Given the description of an element on the screen output the (x, y) to click on. 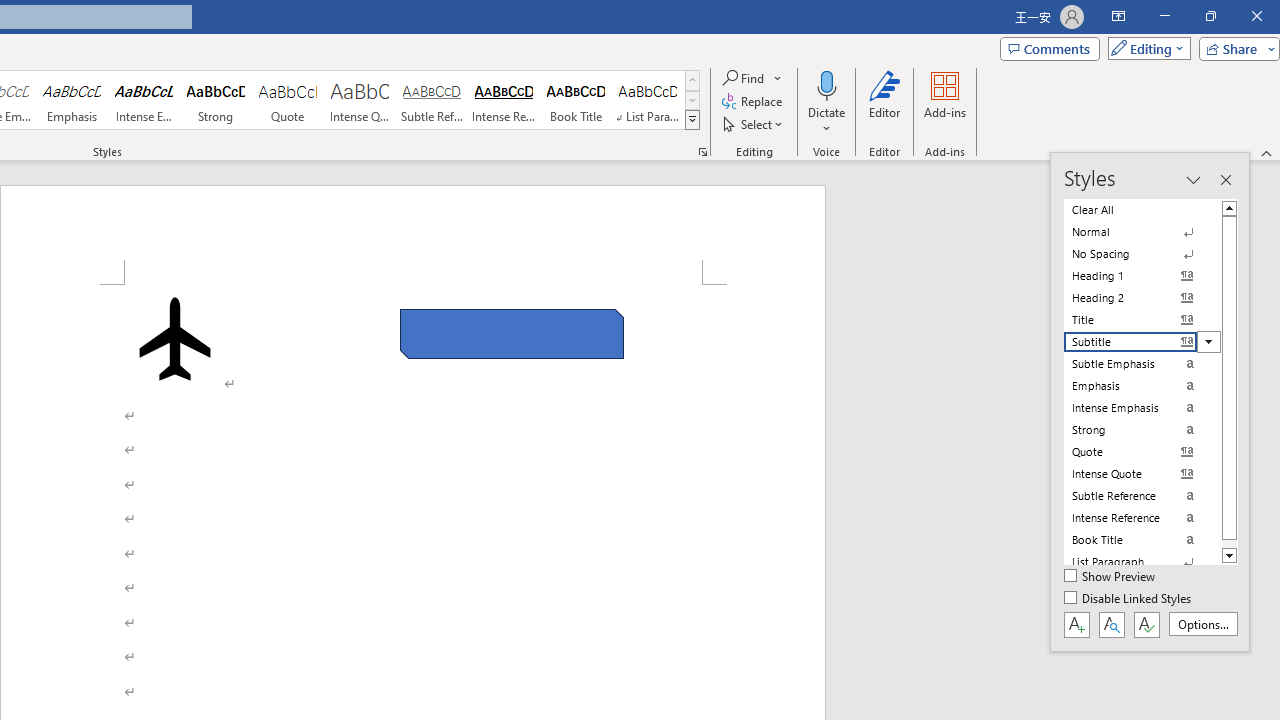
Select (754, 124)
Rectangle: Diagonal Corners Snipped 2 (511, 333)
Airplane with solid fill (175, 338)
Title (1142, 319)
Find (753, 78)
